Given the description of an element on the screen output the (x, y) to click on. 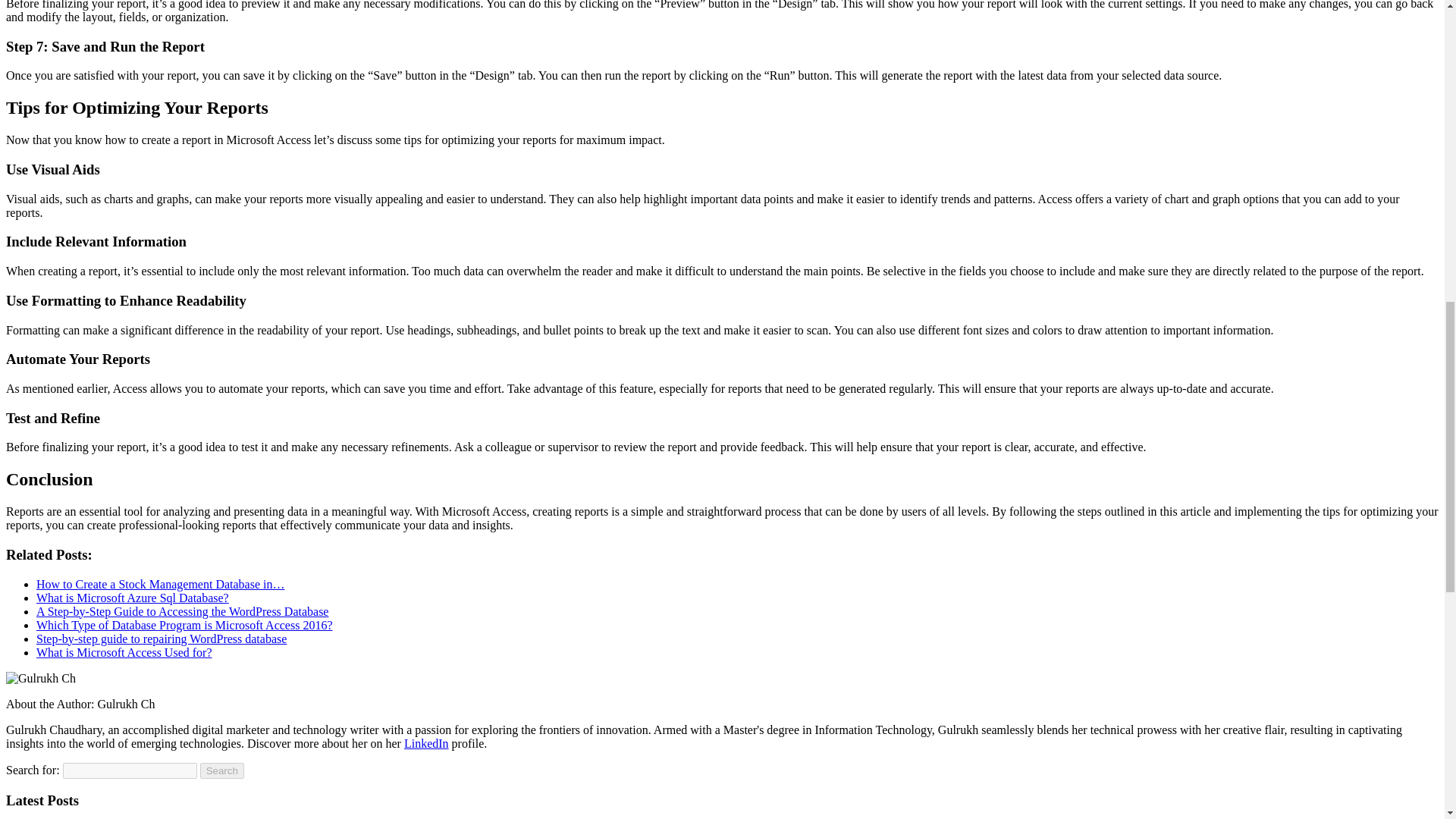
A Step-by-Step Guide to Accessing the WordPress Database (182, 611)
Which Type of Database Program is Microsoft Access 2016? (183, 625)
Search (222, 770)
Step-by-step guide to repairing WordPress database (161, 638)
Search (222, 770)
What is Microsoft Access Used for? (124, 652)
What is Microsoft Azure Sql Database? (132, 597)
LinkedIn (426, 743)
